Given the description of an element on the screen output the (x, y) to click on. 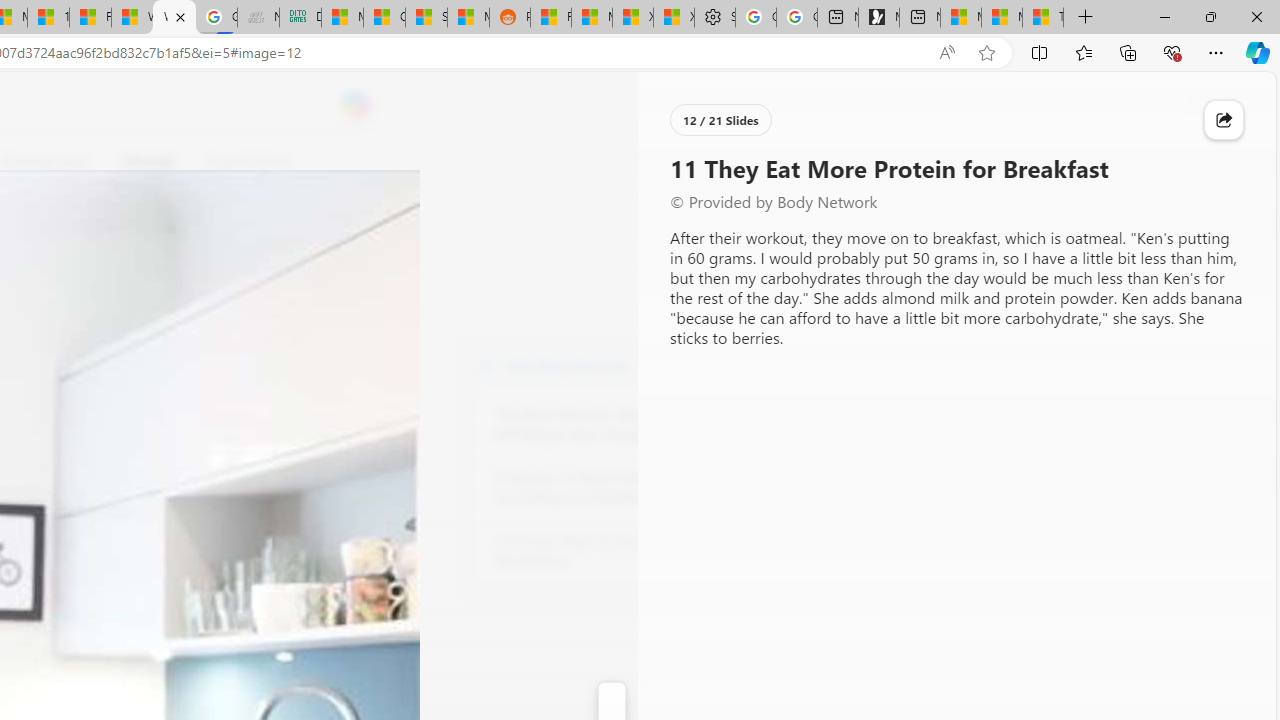
Lifestyle (148, 162)
8 Reasons to Drink Kombucha, According to a Nutritionist (603, 488)
